Given the description of an element on the screen output the (x, y) to click on. 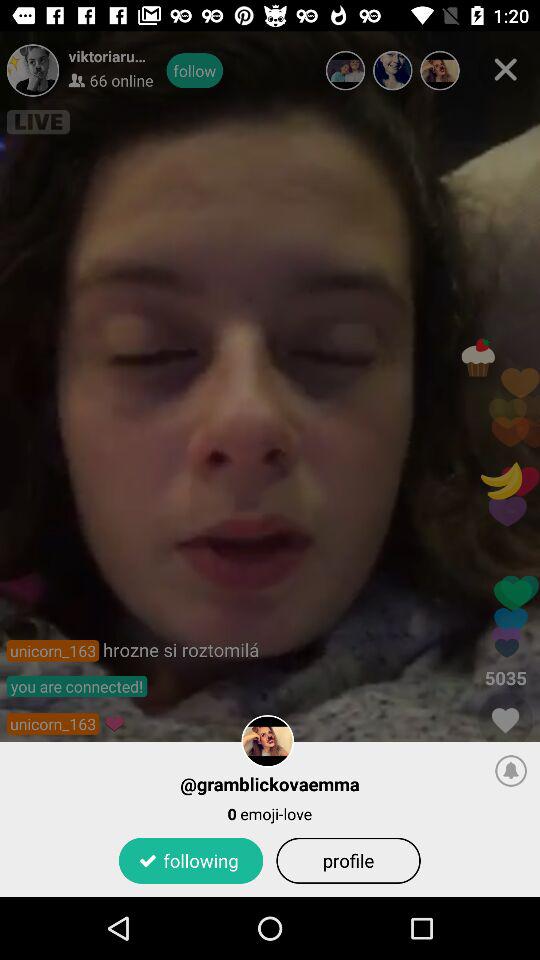
turn on the icon next to following icon (348, 860)
